Given the description of an element on the screen output the (x, y) to click on. 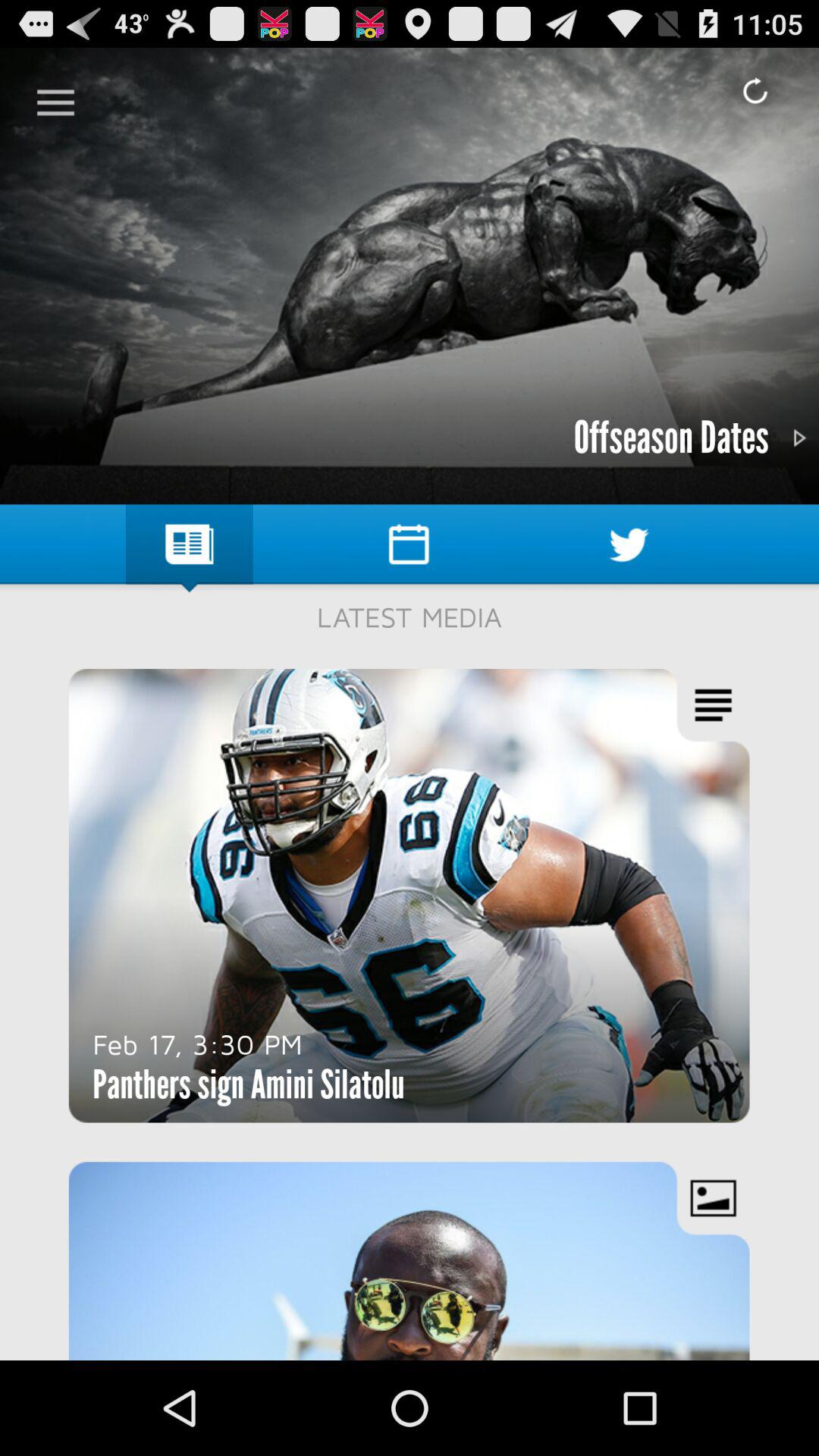
select the third image (409, 1260)
click on the refresh icon (755, 90)
click on the the symbol which is left hand side of the bird symbol (408, 544)
click on second image from top (409, 895)
